Given the description of an element on the screen output the (x, y) to click on. 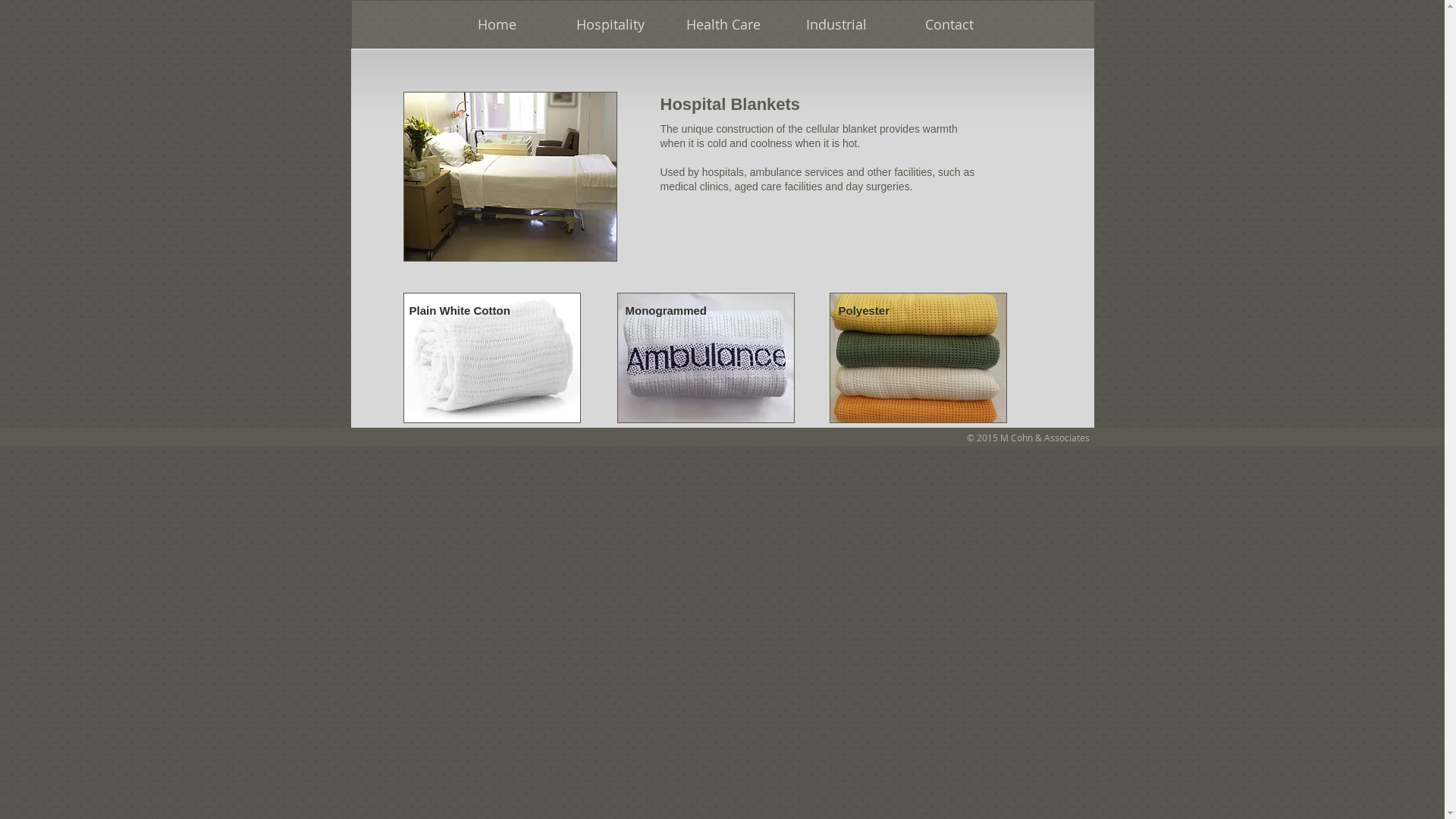
Contact Element type: text (947, 24)
Polyester blankets 003_edited.JPG Element type: hover (918, 357)
Home Element type: text (495, 24)
hospital bed.jpg Element type: hover (510, 176)
monogrammed blanket_edited.jpg Element type: hover (705, 357)
Cotton Cellular Blanket.jpg Element type: hover (491, 357)
